Given the description of an element on the screen output the (x, y) to click on. 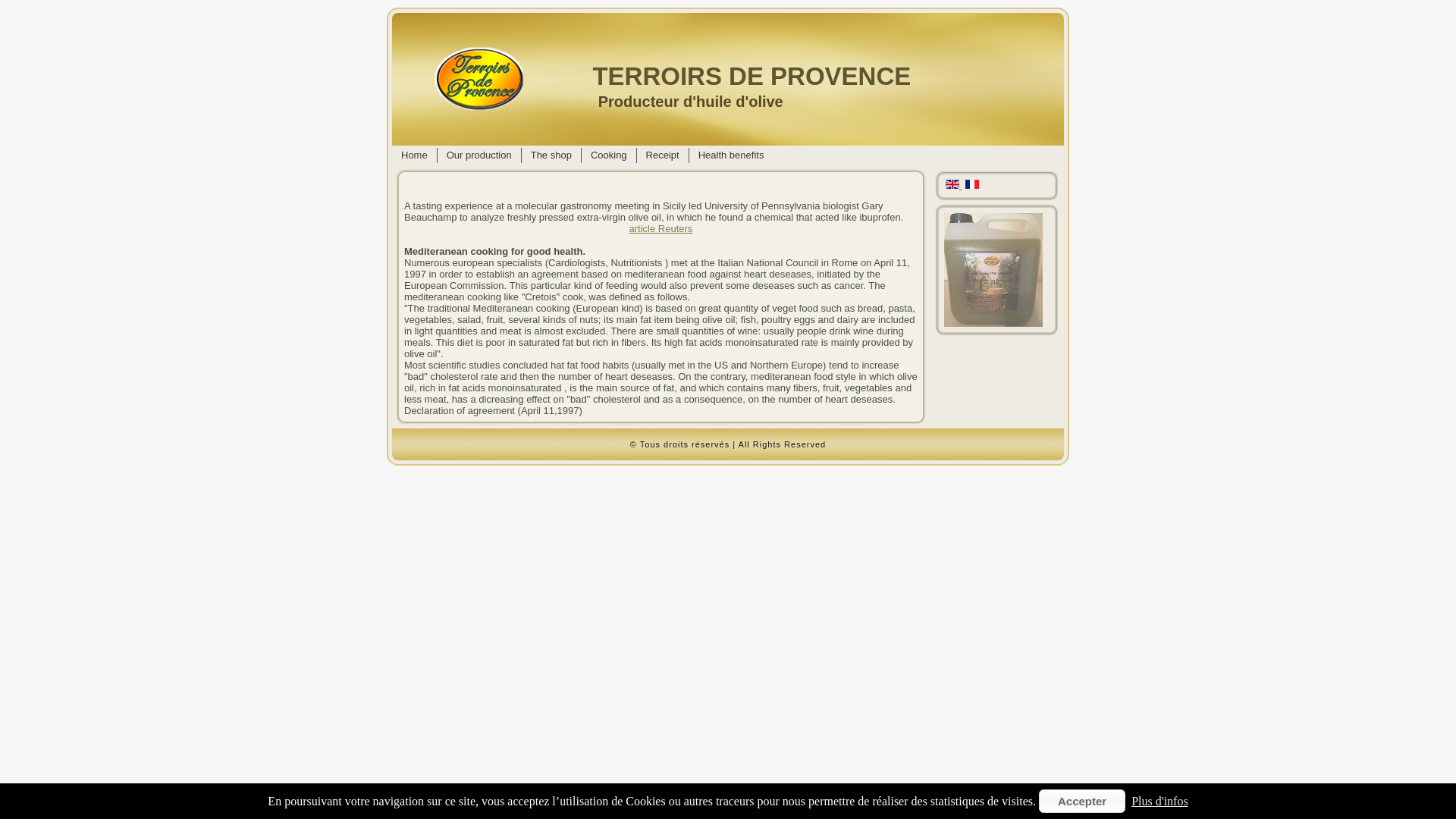
article Reuters (660, 228)
TERROIRS DE PROVENCE (751, 76)
Our production (479, 155)
Plus d'infos (1159, 800)
Health benefits (730, 155)
Cooking (608, 155)
Accepter (1082, 801)
The shop (550, 155)
The shop (550, 155)
Home (413, 155)
